Given the description of an element on the screen output the (x, y) to click on. 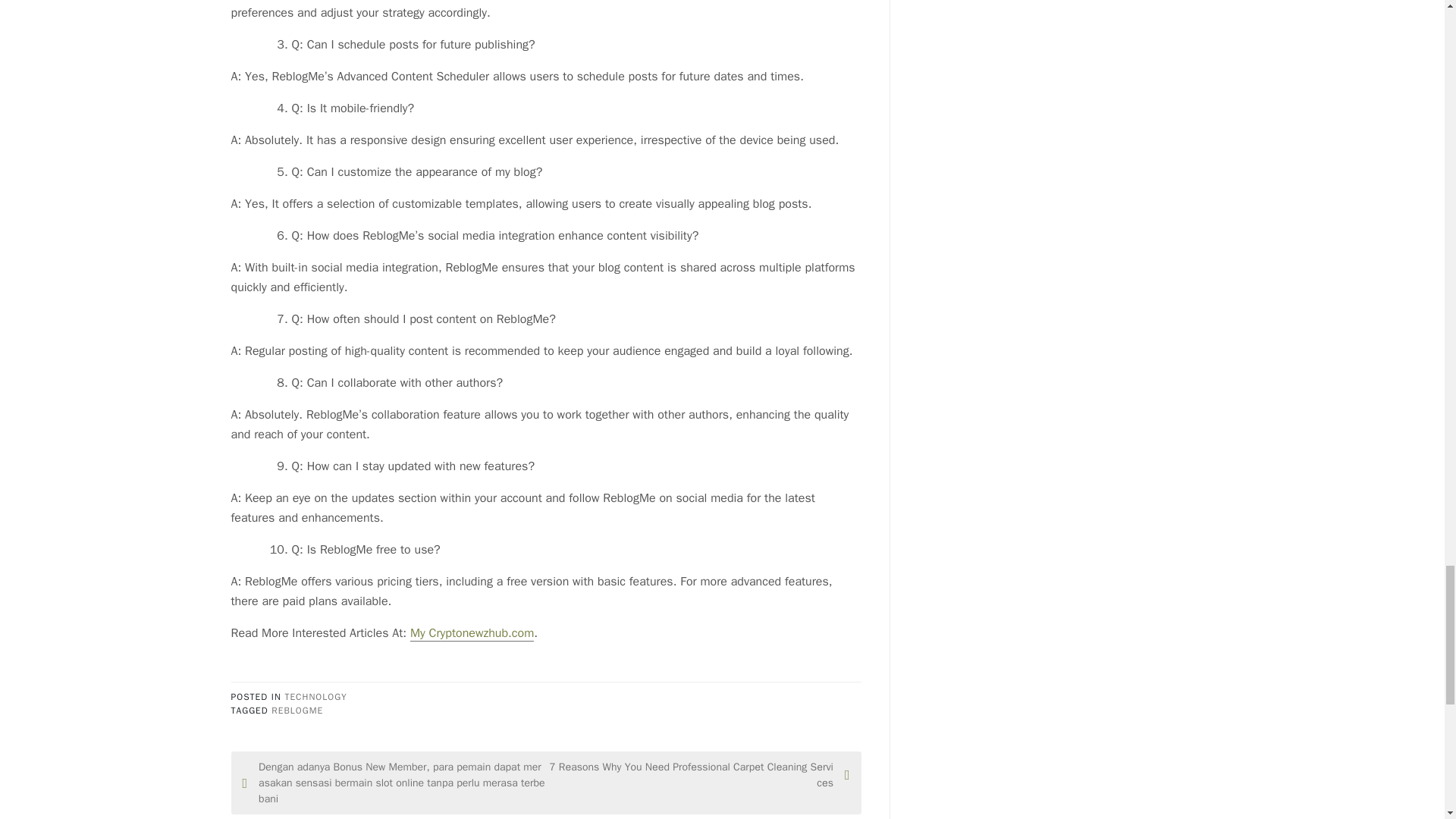
My Cryptonewzhub.com (472, 633)
REBLOGME (296, 710)
TECHNOLOGY (314, 696)
